Given the description of an element on the screen output the (x, y) to click on. 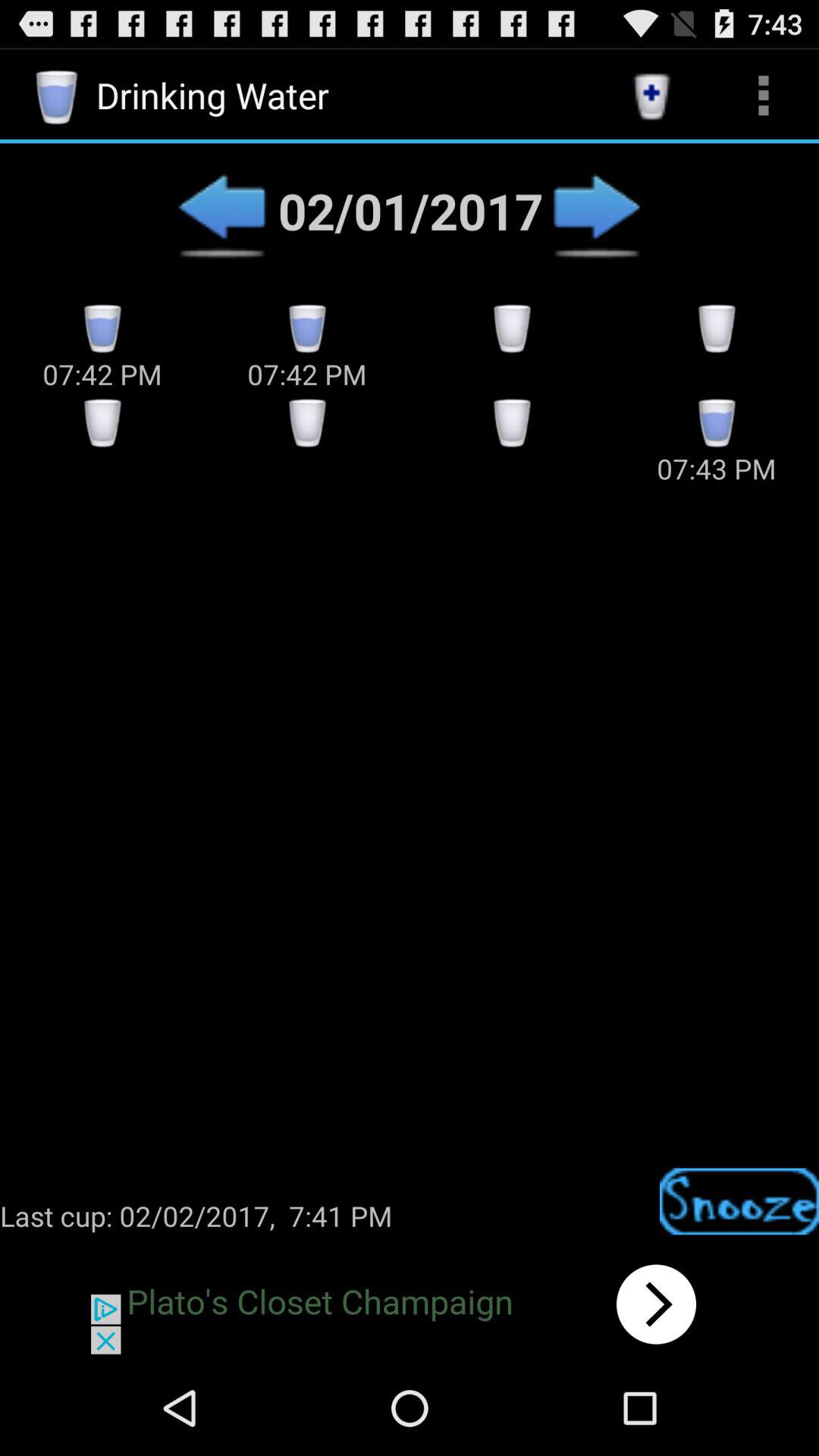
backward (221, 210)
